Given the description of an element on the screen output the (x, y) to click on. 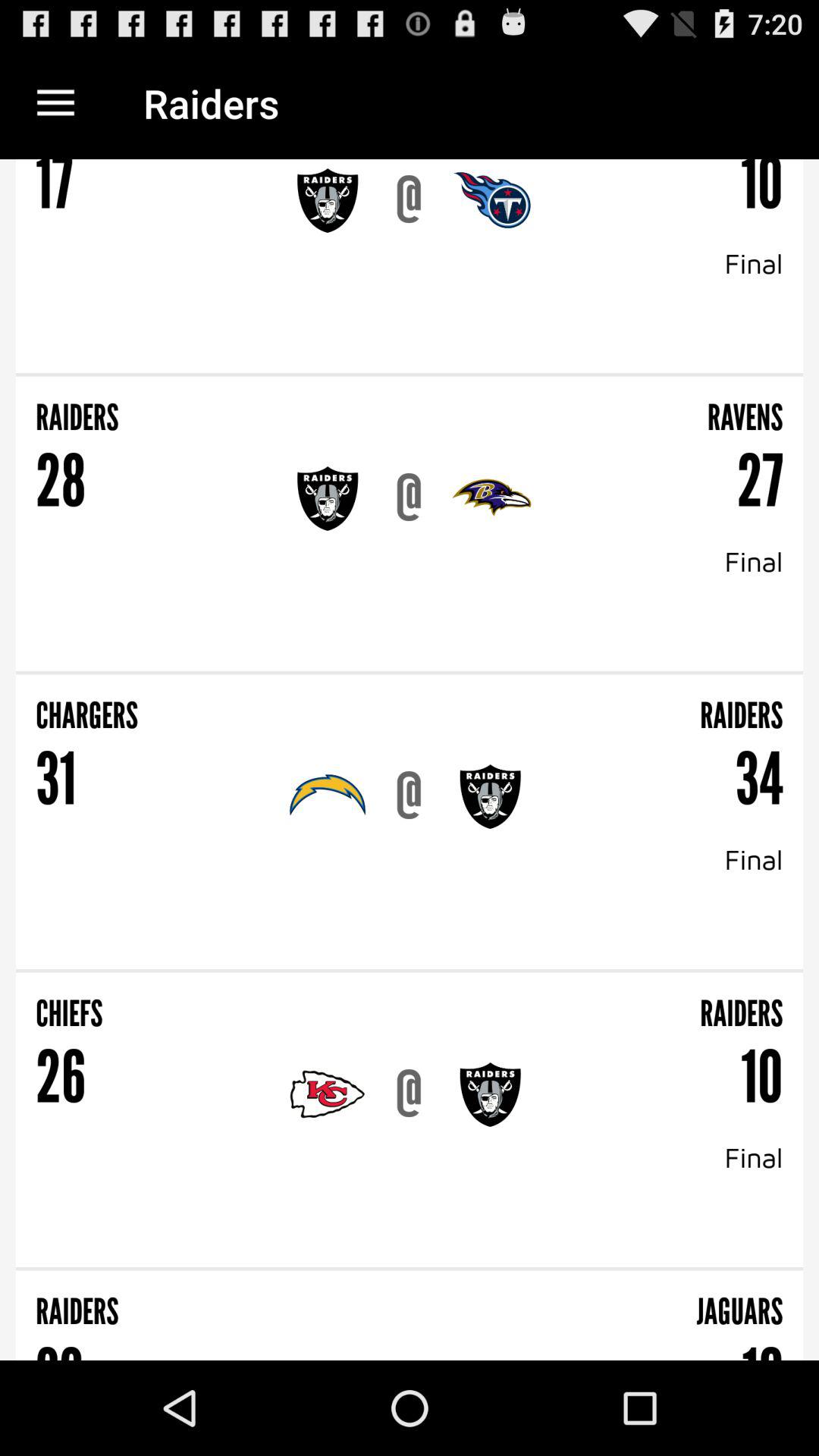
select the icon to the left of the raiders item (55, 103)
